Given the description of an element on the screen output the (x, y) to click on. 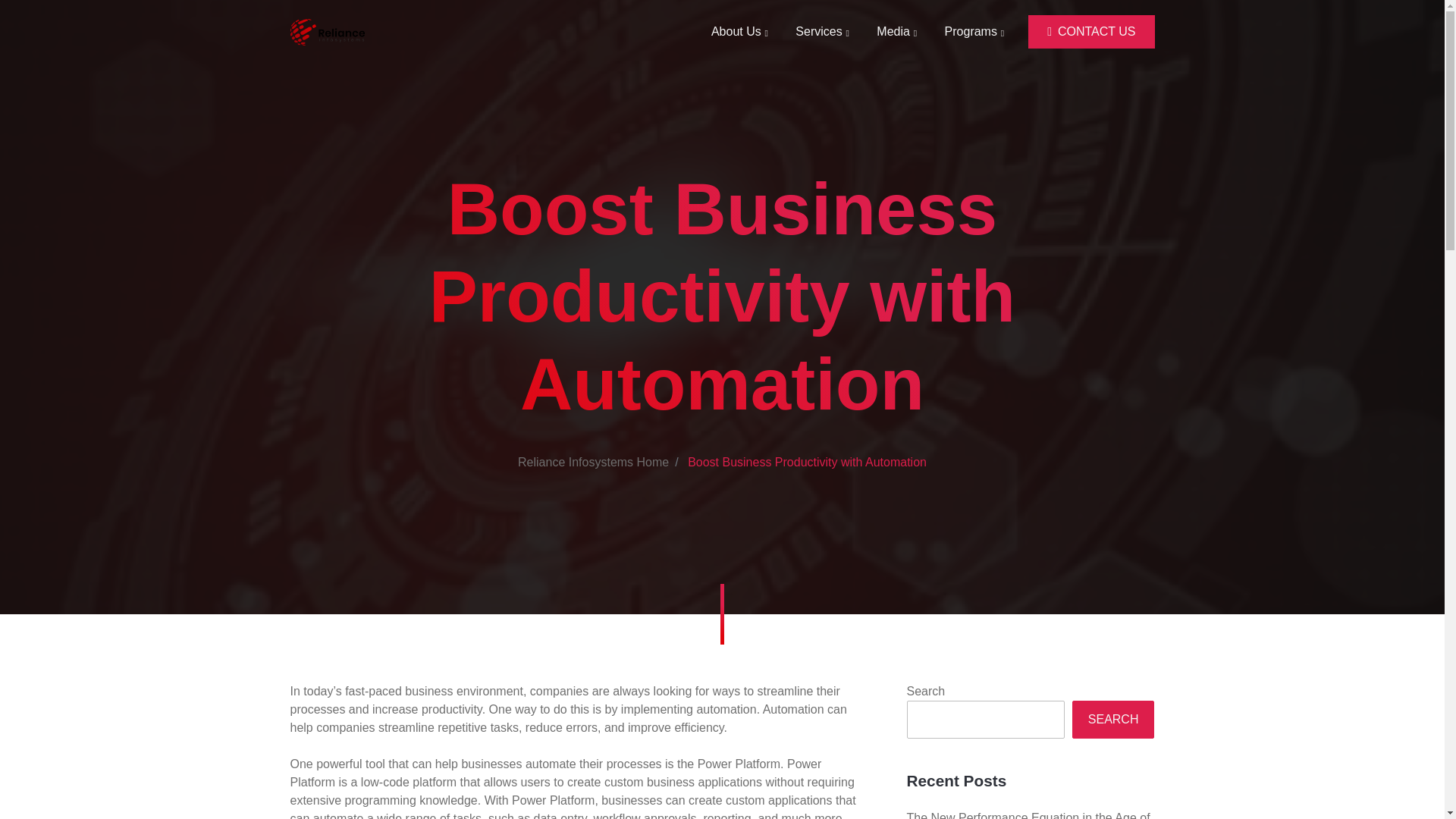
Reliance Infosystems Home (593, 461)
About Us (739, 31)
Programs (974, 31)
Media (896, 31)
SEARCH (1112, 719)
CONTACT US (1090, 31)
The New Performance Equation in the Age of AI (1028, 815)
Services (822, 31)
